Given the description of an element on the screen output the (x, y) to click on. 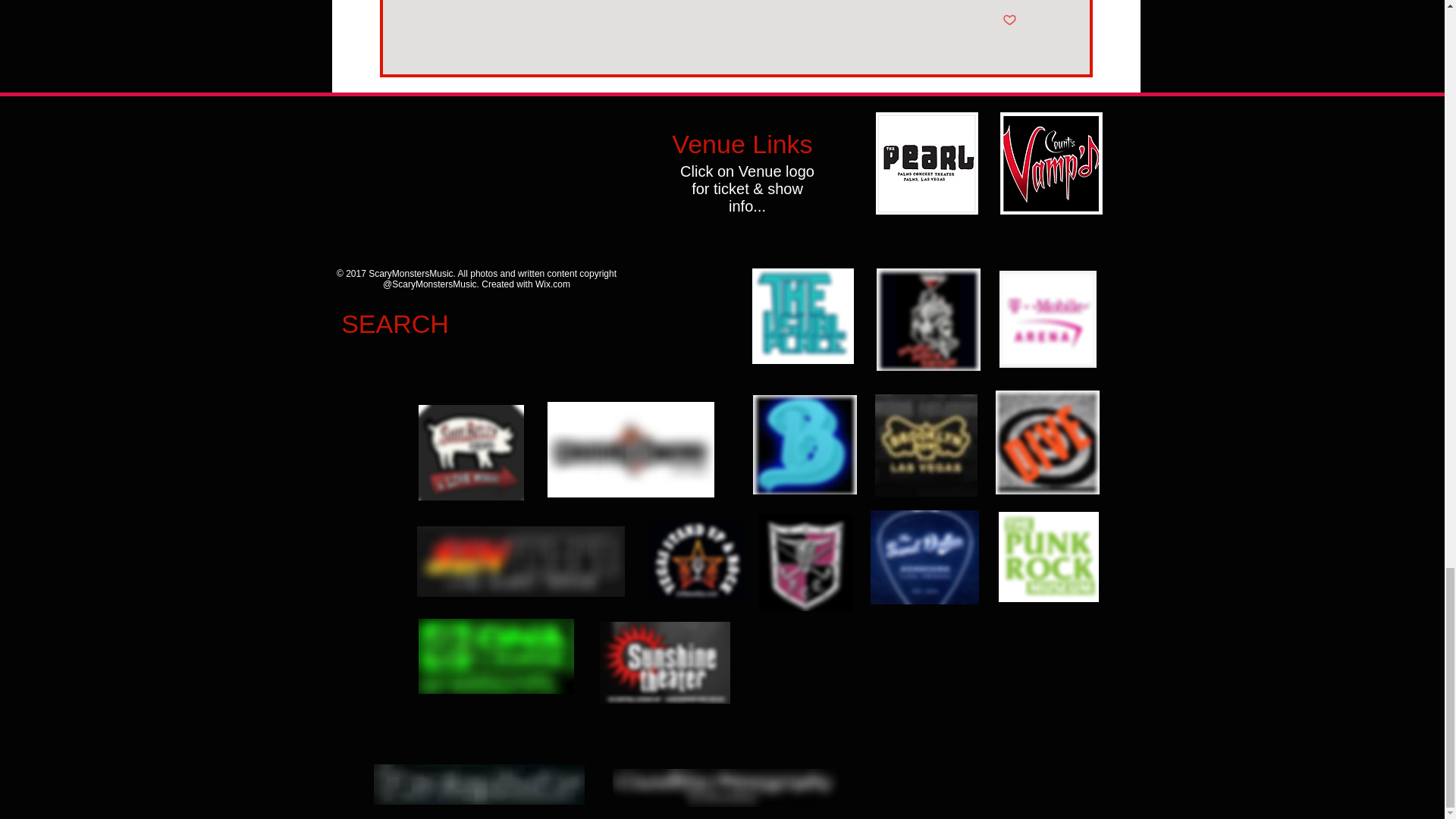
Wix.com (552, 284)
Post not marked as liked (1009, 20)
